Given the description of an element on the screen output the (x, y) to click on. 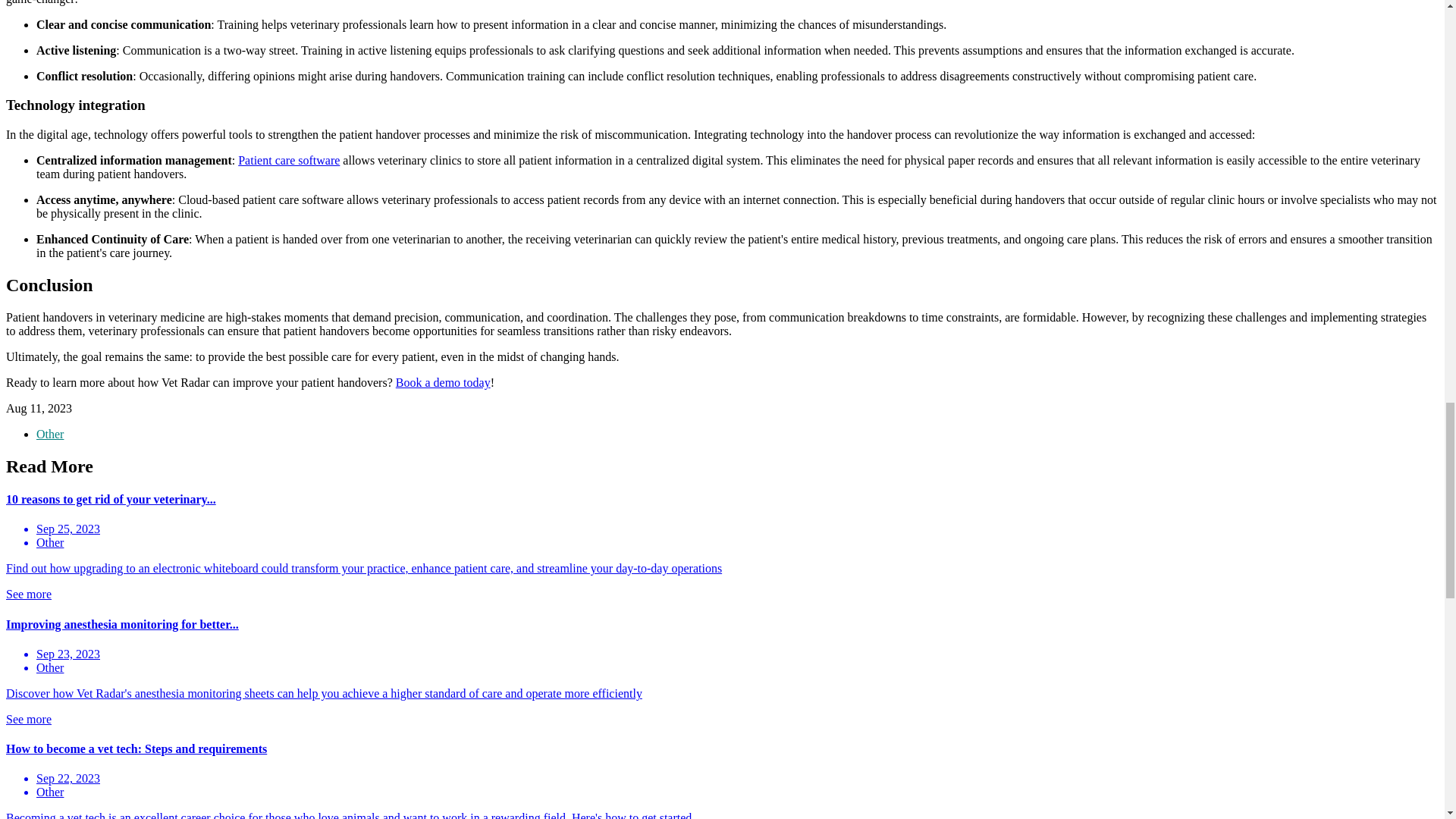
Patient care software (288, 160)
Other (50, 433)
Book a demo today (443, 382)
